Given the description of an element on the screen output the (x, y) to click on. 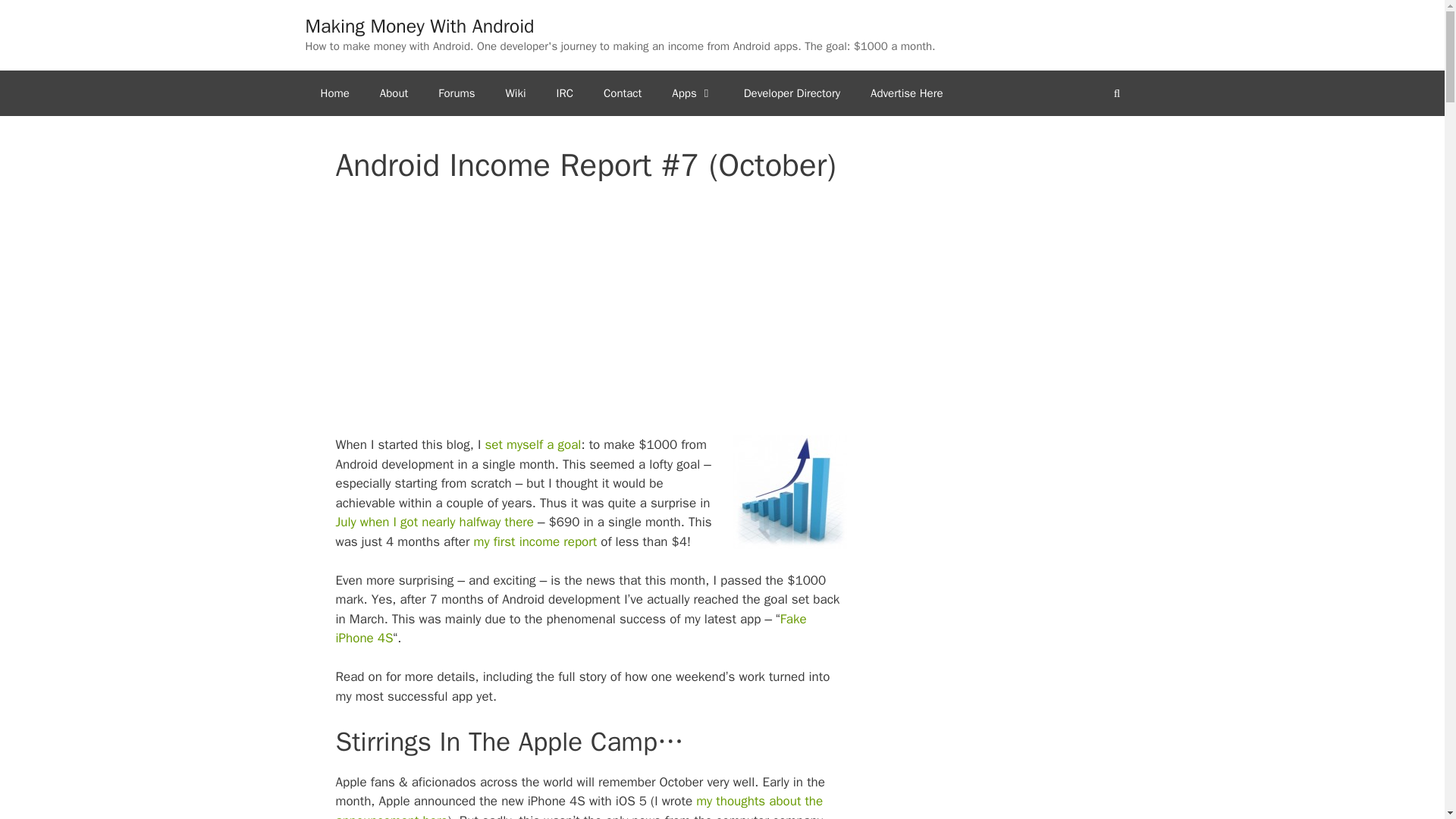
Advertisement (591, 315)
my thoughts about the announcement here (578, 806)
Making Money With Android Forums (456, 92)
About (394, 92)
Forums (456, 92)
Advertise Here (907, 92)
Developer Directory (792, 92)
Home (334, 92)
First Month on the Android Market (535, 541)
Fake iPhone 4S (570, 628)
